Given the description of an element on the screen output the (x, y) to click on. 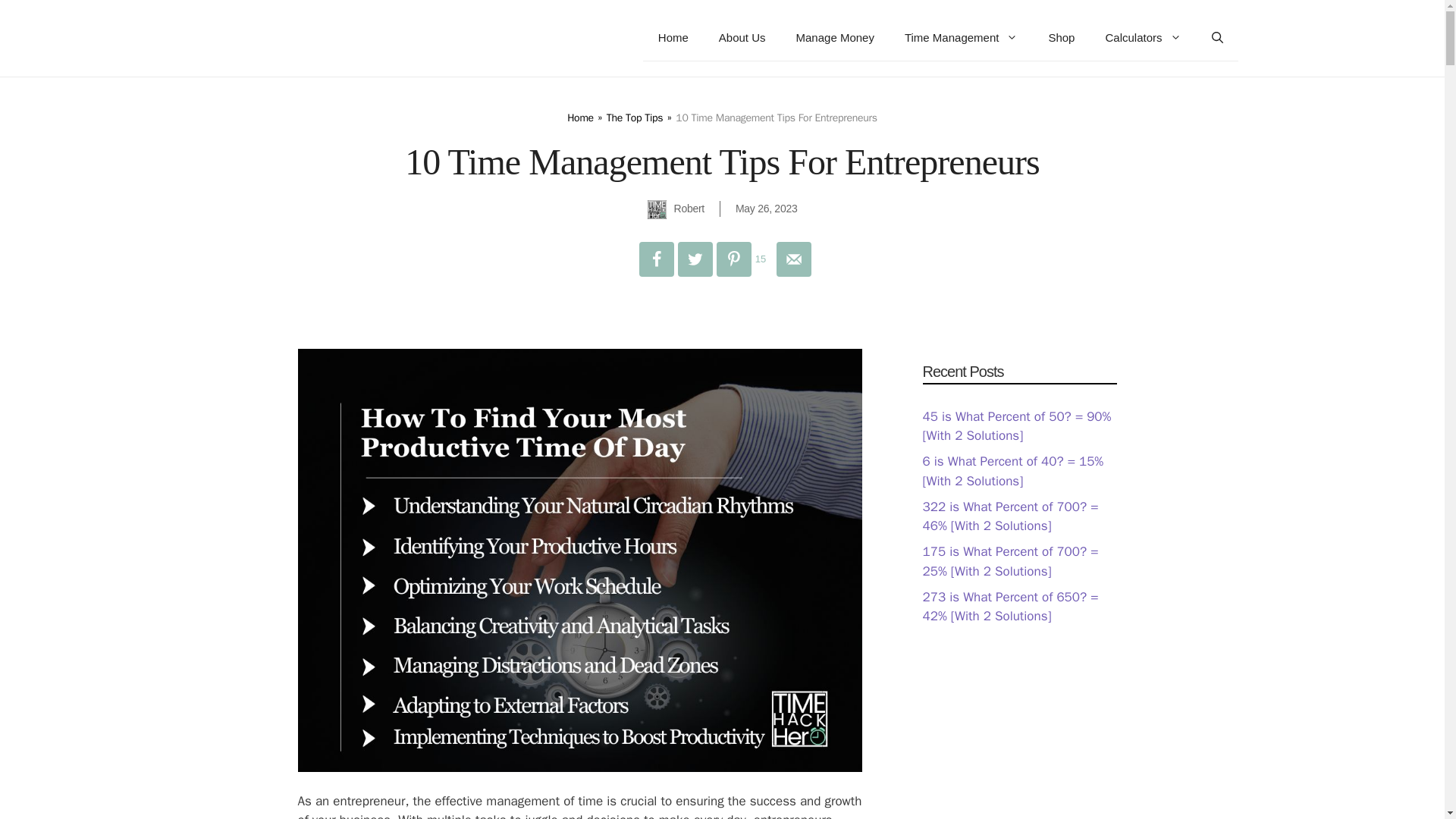
Save to Pinterest (743, 258)
Share on Twitter (695, 258)
Shop (1060, 37)
Home (673, 37)
Send over email (793, 258)
Time Management (961, 37)
Calculators (1142, 37)
Share on Facebook (655, 258)
About Us (741, 37)
Manage Money (834, 37)
